Given the description of an element on the screen output the (x, y) to click on. 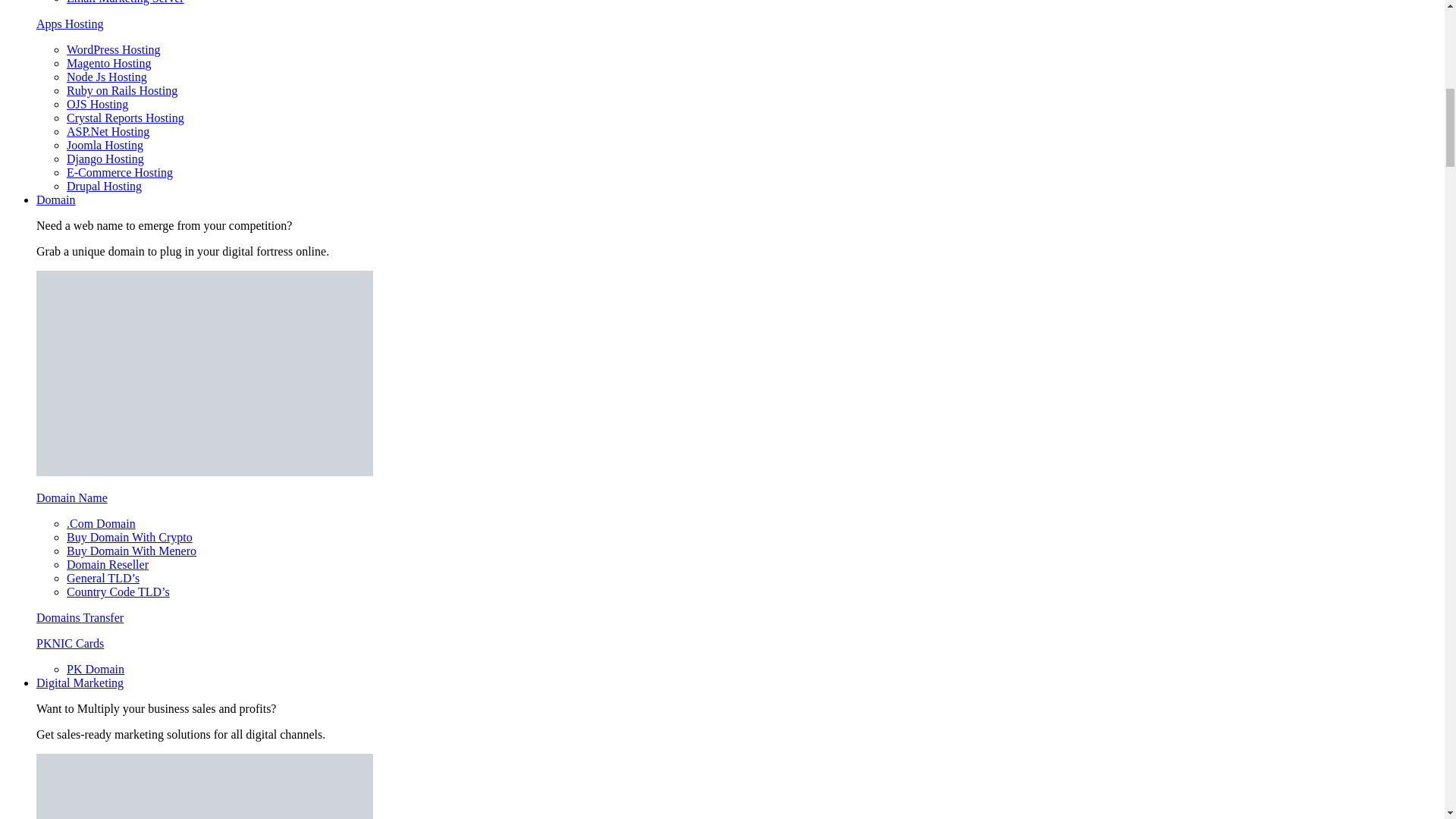
Node Js Hosting (106, 76)
Magento Hosting (108, 62)
E-Commerce Hosting (119, 172)
Drupal Hosting (103, 185)
ASP.Net Hosting (107, 131)
Email Marketing Server (125, 2)
Django Hosting (105, 158)
Joomla Hosting (104, 144)
Crystal Reports Hosting (125, 117)
Domain (55, 199)
Ruby on Rails Hosting (121, 90)
WordPress Hosting (113, 49)
OJS Hosting (97, 103)
Apps Hosting (69, 23)
